Given the description of an element on the screen output the (x, y) to click on. 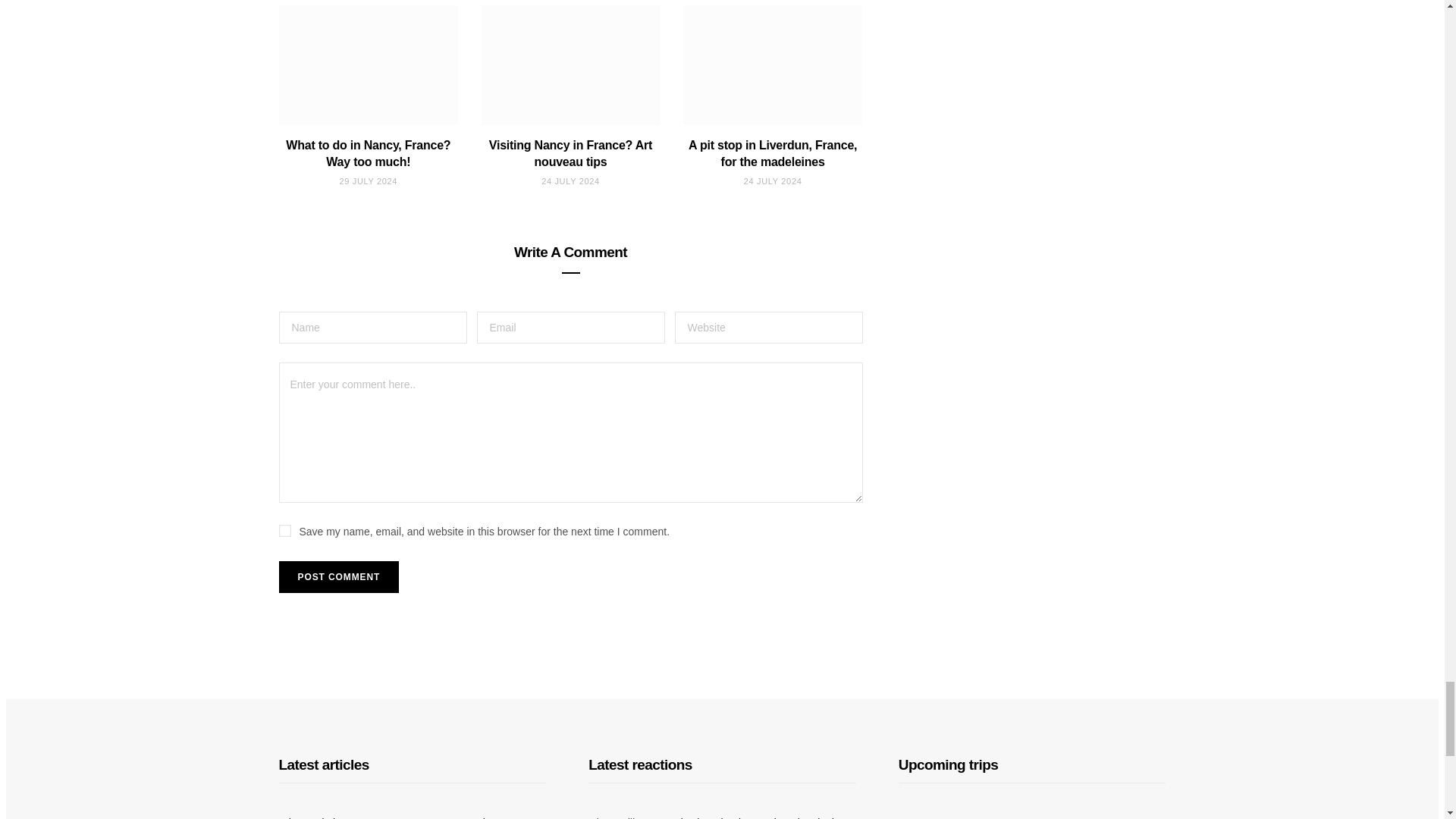
Post Comment (338, 576)
yes (285, 530)
